Given the description of an element on the screen output the (x, y) to click on. 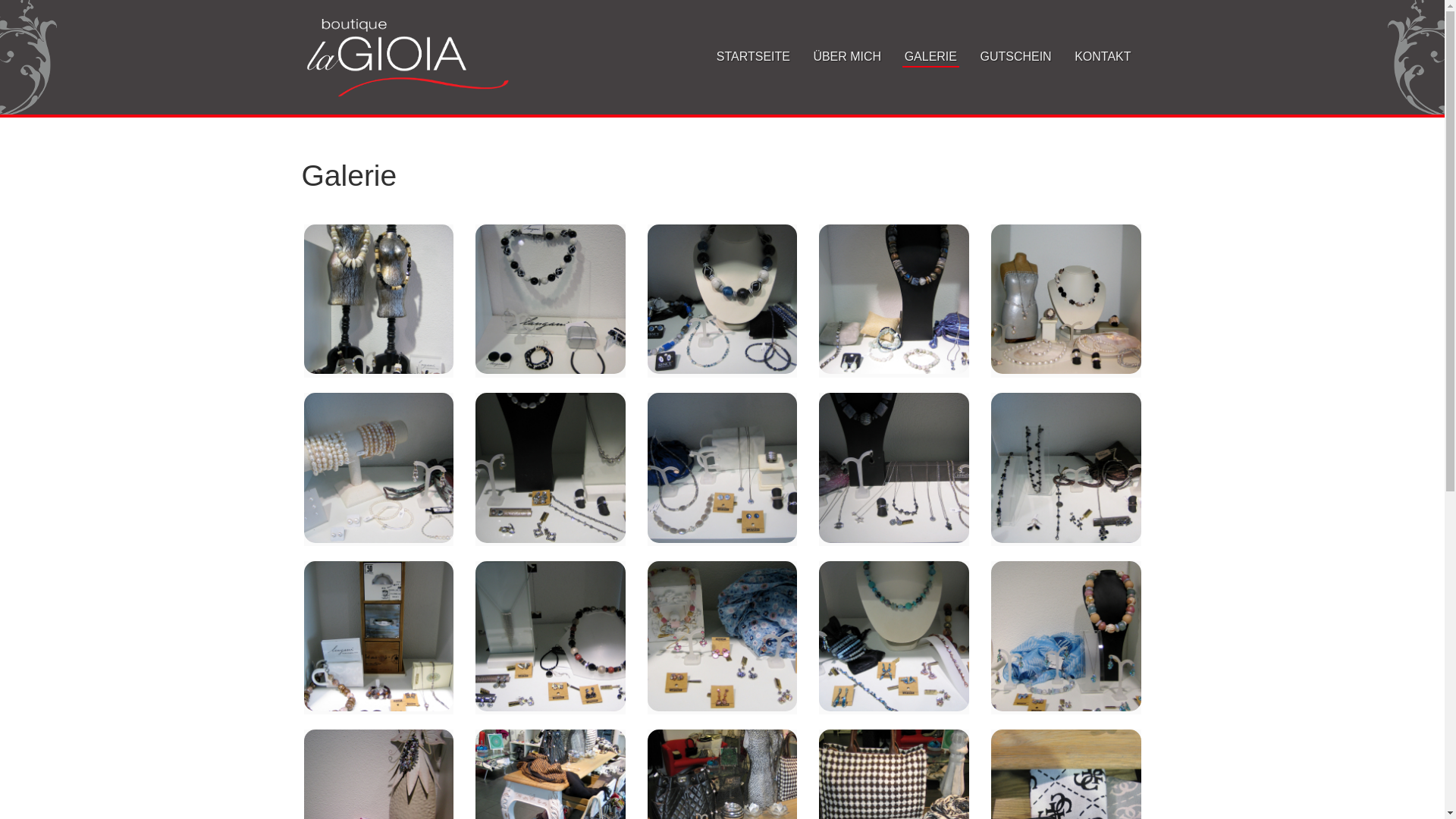
GUTSCHEIN Element type: text (1015, 56)
STARTSEITE Element type: text (753, 56)
GALERIE Element type: text (930, 57)
KONTAKT Element type: text (1102, 56)
